Given the description of an element on the screen output the (x, y) to click on. 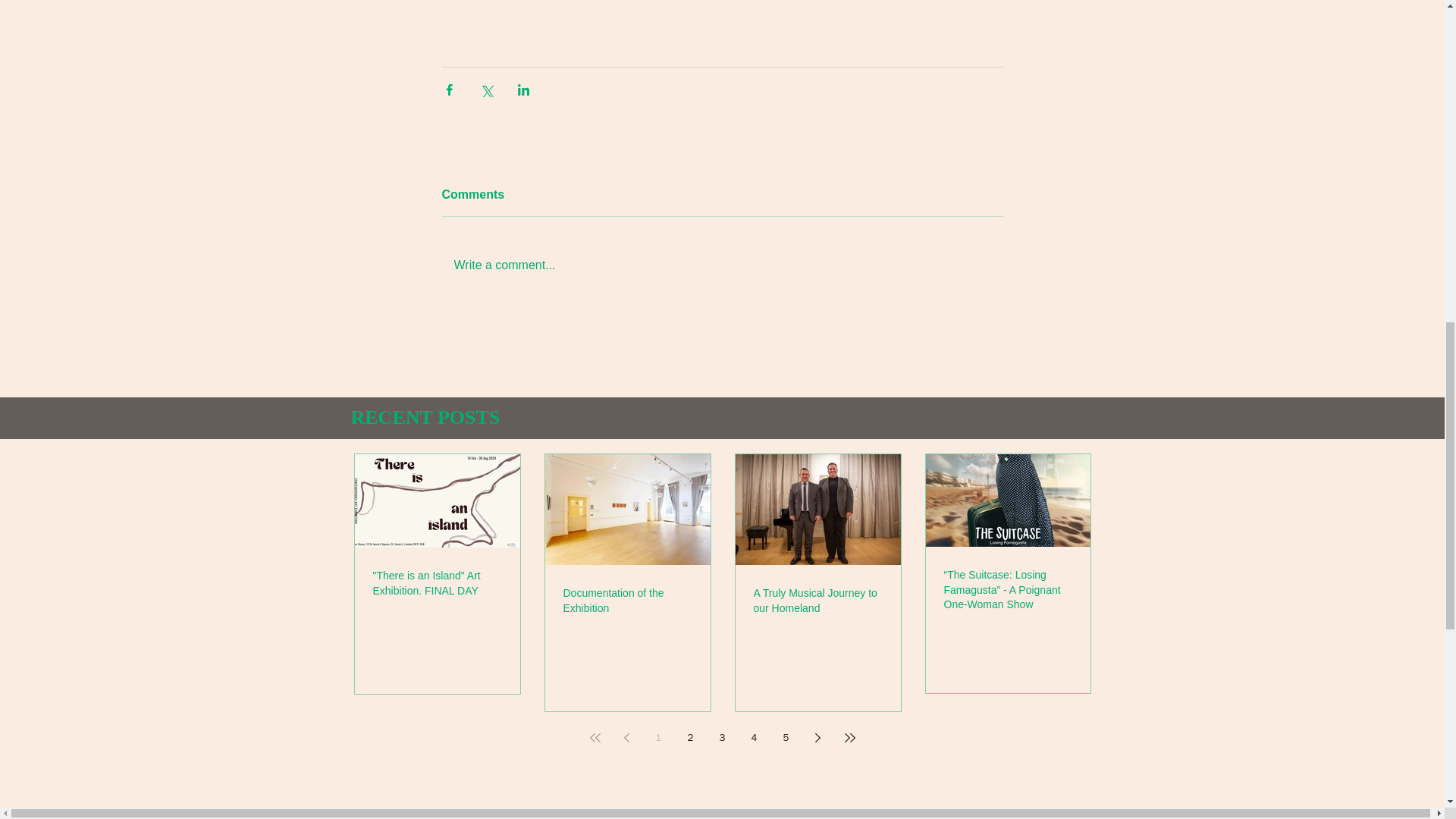
Write a comment... (722, 265)
5 (785, 737)
"There is an Island" Art Exhibition. FINAL DAY (437, 583)
2 (690, 737)
A Truly Musical Journey to our Homeland (818, 600)
Documentation of the Exhibition (626, 600)
4 (753, 737)
3 (721, 737)
